Given the description of an element on the screen output the (x, y) to click on. 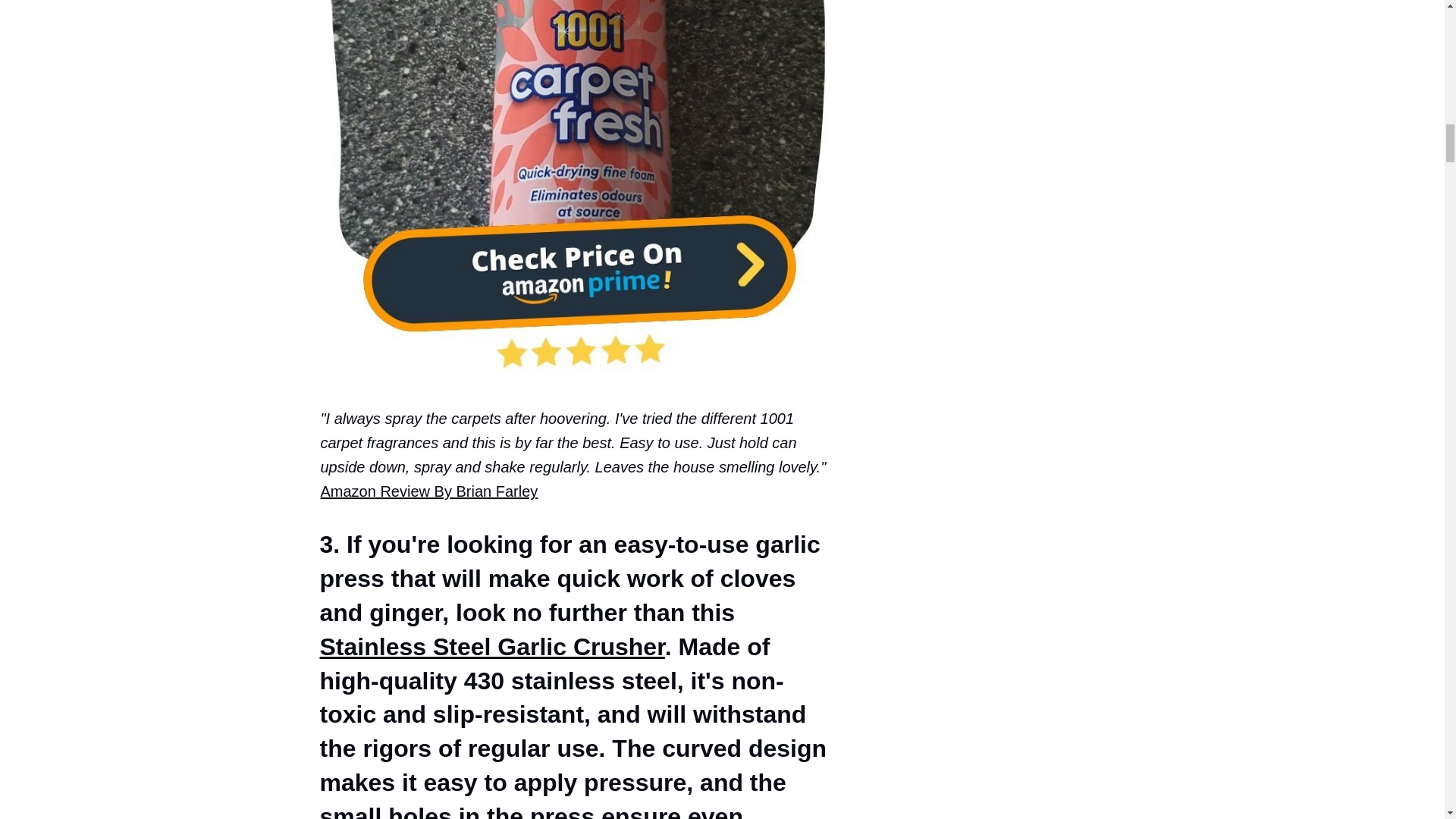
Stainless Steel Garlic Crusher (492, 646)
Amazon Review By Brian Farley (428, 491)
